Given the description of an element on the screen output the (x, y) to click on. 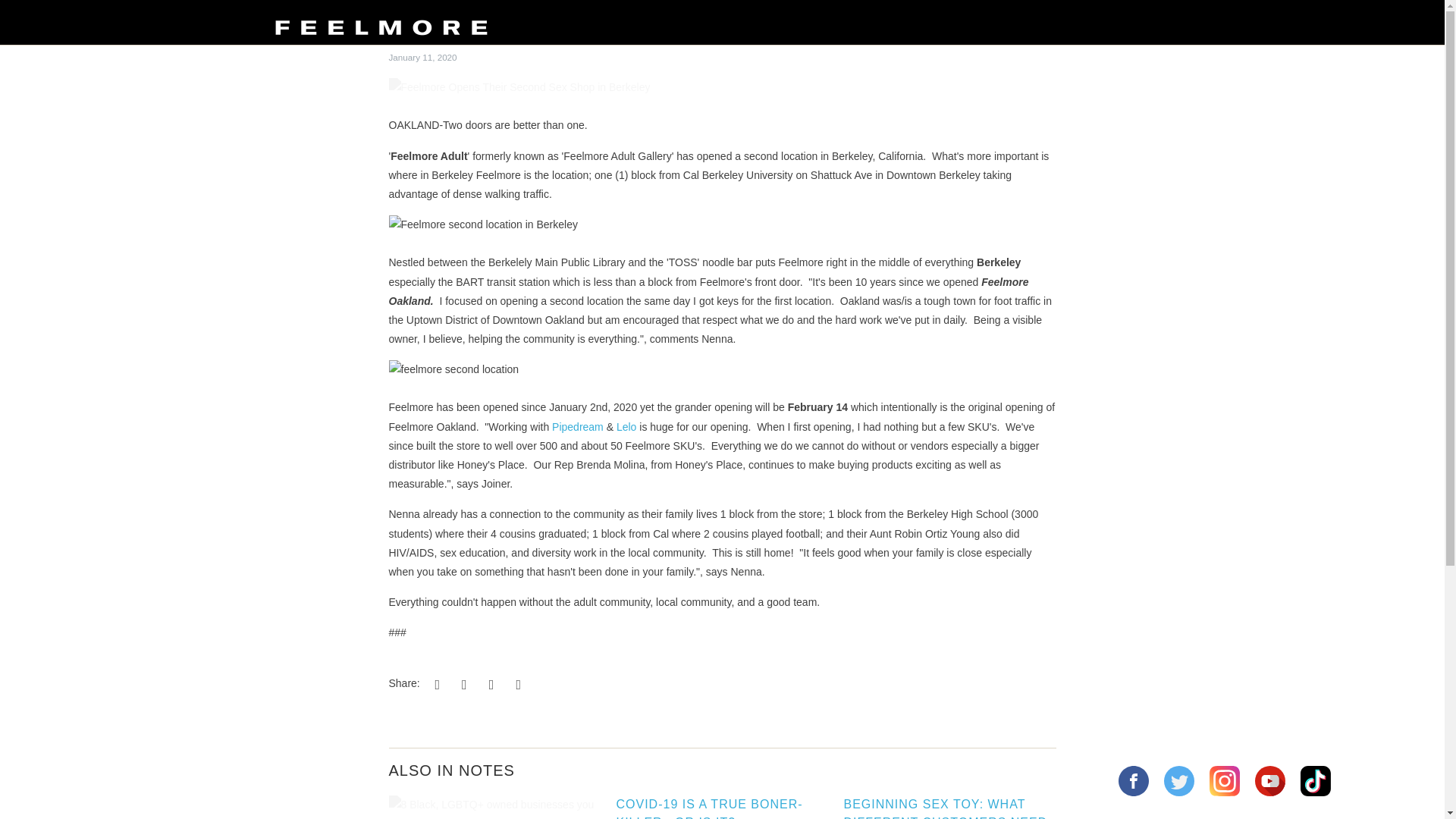
Share this on Twitter (434, 683)
Covid-19 Is a True Boner-Killer...or is it? (708, 808)
Feelmore (380, 22)
Share this on Pinterest (488, 683)
Pipedream and Feelmore 2nd location opening collaboration (577, 426)
Email this to a friend (515, 683)
Feelmore Adult 2nd Location (625, 426)
Share this on Facebook (461, 683)
